Given the description of an element on the screen output the (x, y) to click on. 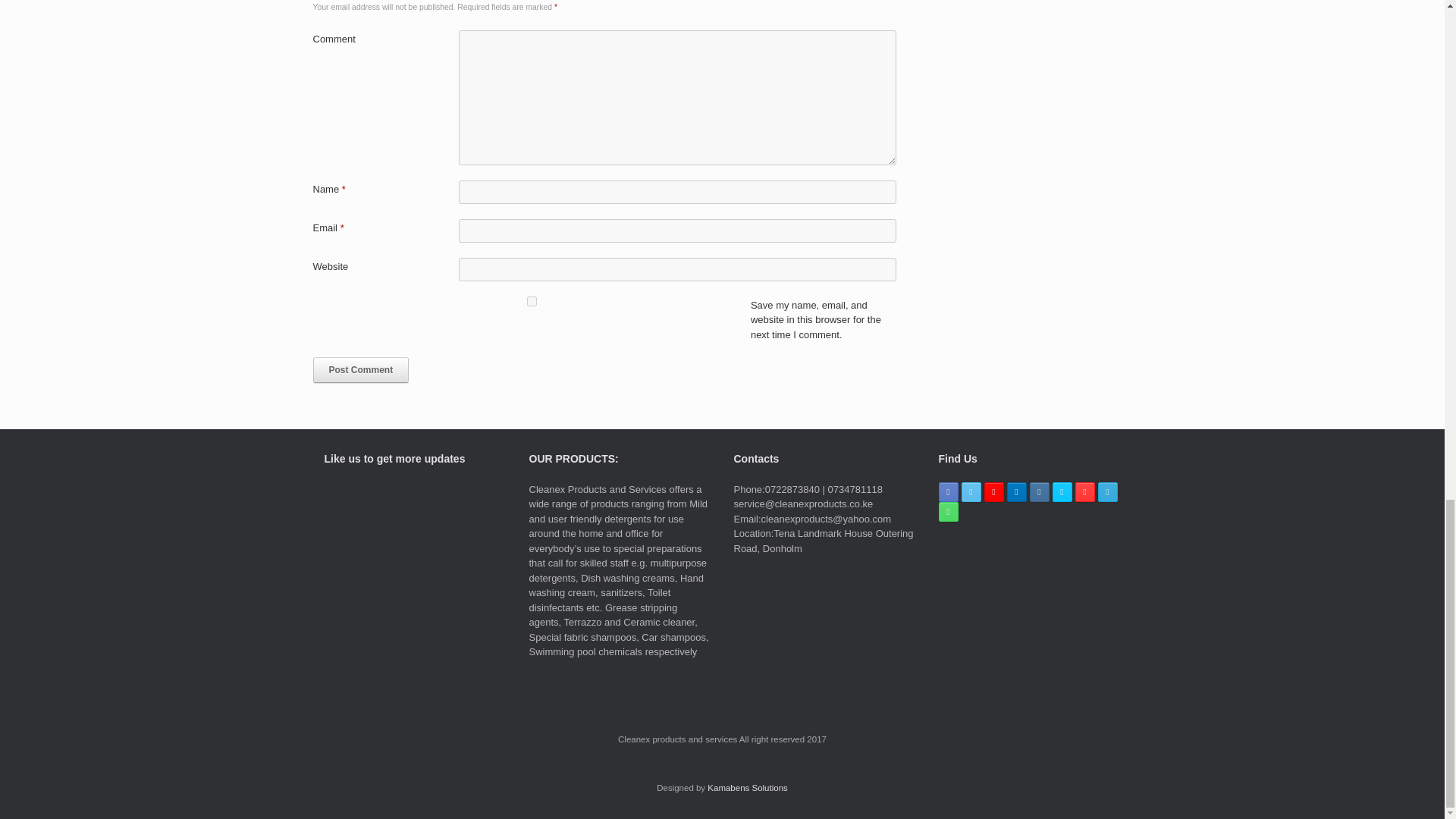
Post Comment (361, 370)
Cleanex Products and Services Skype (1061, 492)
yes (531, 301)
Post Comment (361, 370)
Cleanex Products and Services Facebook (948, 492)
Cleanex Products and Services Instagram (1039, 492)
Cleanex Products and Services Google Plus (994, 492)
Cleanex Products and Services LinkedIn (1016, 492)
Kamabens Solutions (747, 787)
Cleanex Products and Services Twitter (970, 492)
